Given the description of an element on the screen output the (x, y) to click on. 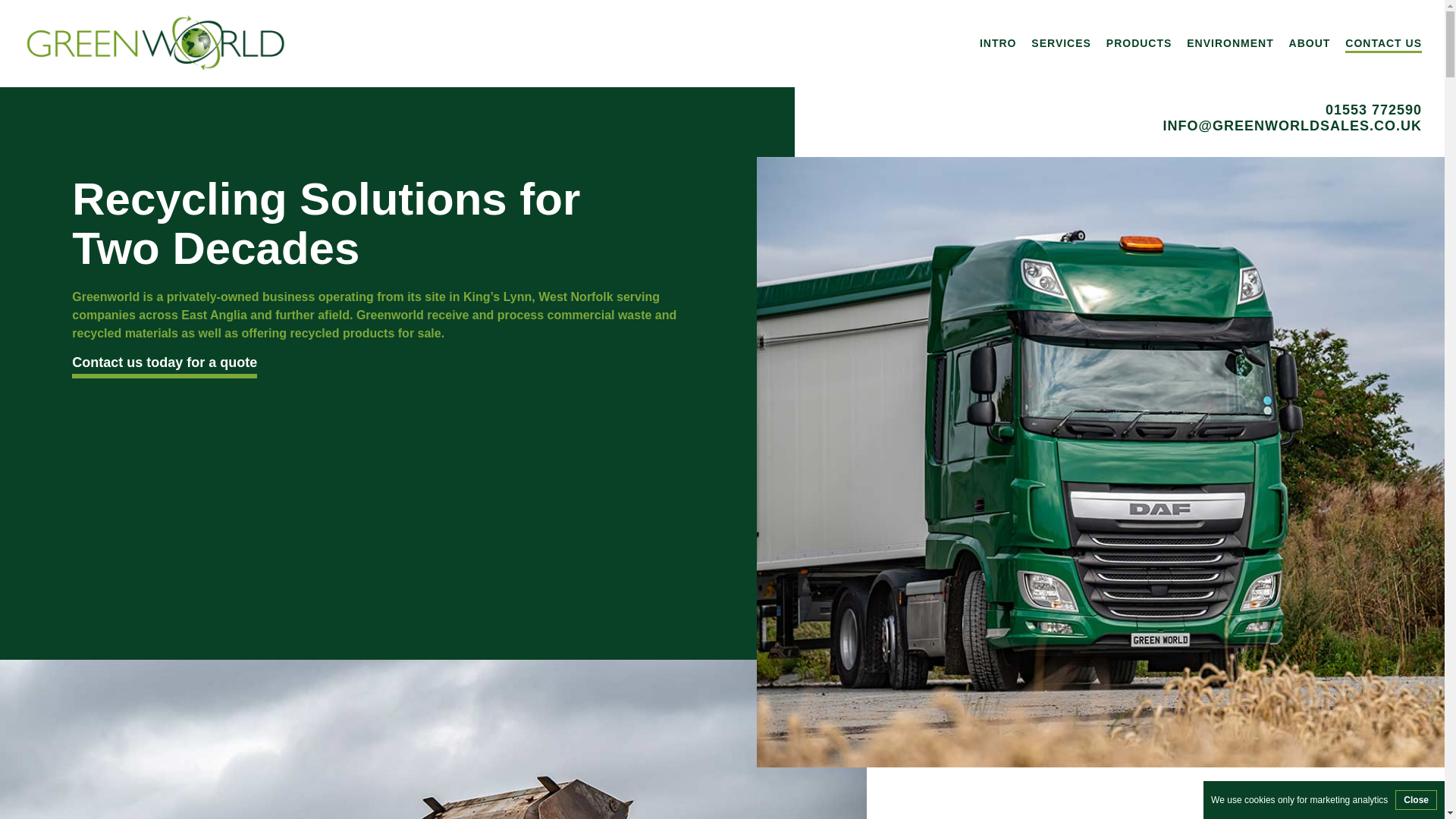
PRODUCTS (1139, 42)
01553 772590 (1119, 109)
ABOUT (1309, 42)
PRODUCTS (1139, 42)
INTRO (997, 42)
CONTACT US (1383, 42)
ABOUT (1309, 42)
Contact us today for a quote (164, 362)
We use cookies only for marketing analytics (1299, 799)
SERVICES (1060, 42)
